Given the description of an element on the screen output the (x, y) to click on. 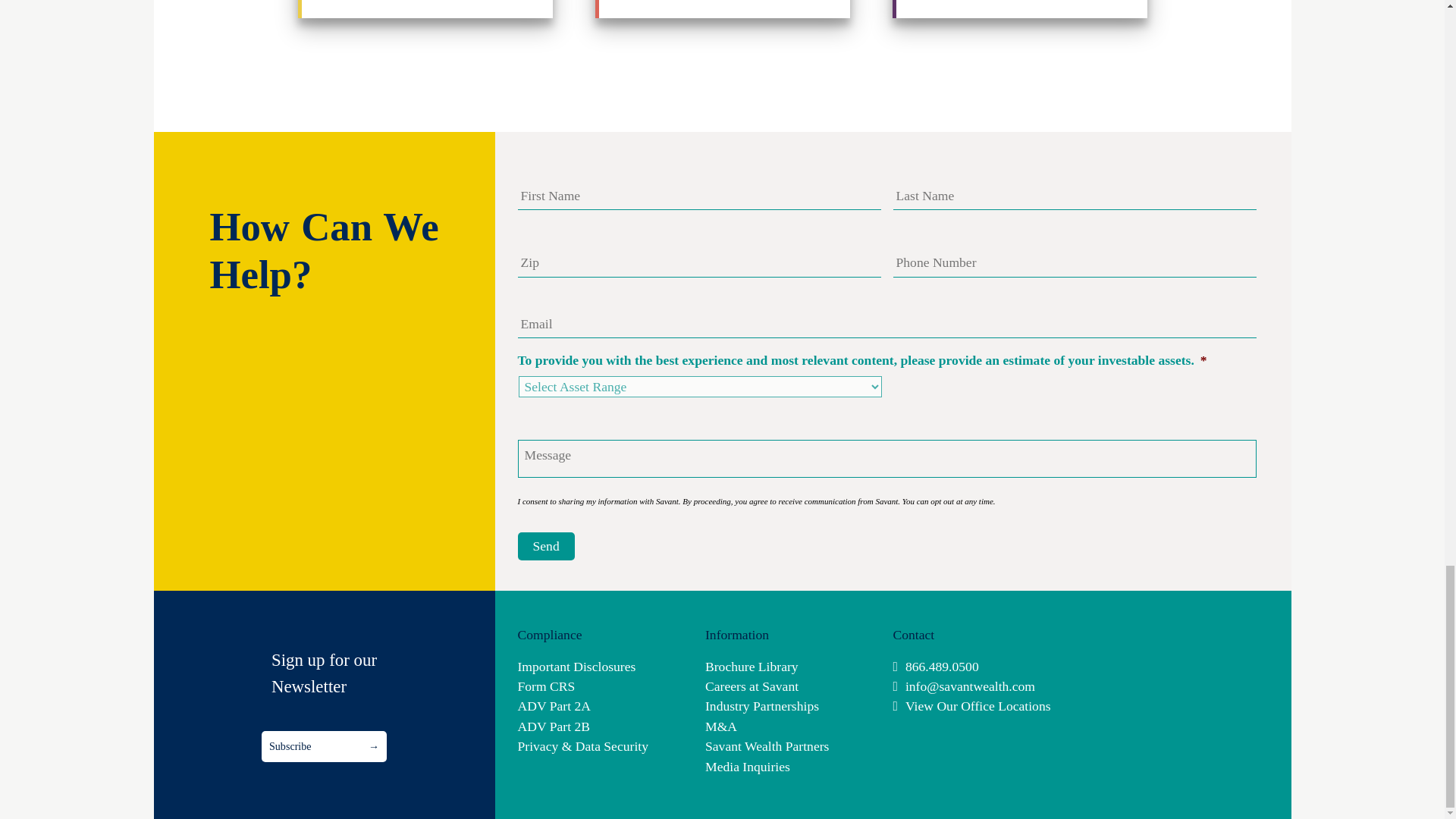
Send (544, 546)
